Given the description of an element on the screen output the (x, y) to click on. 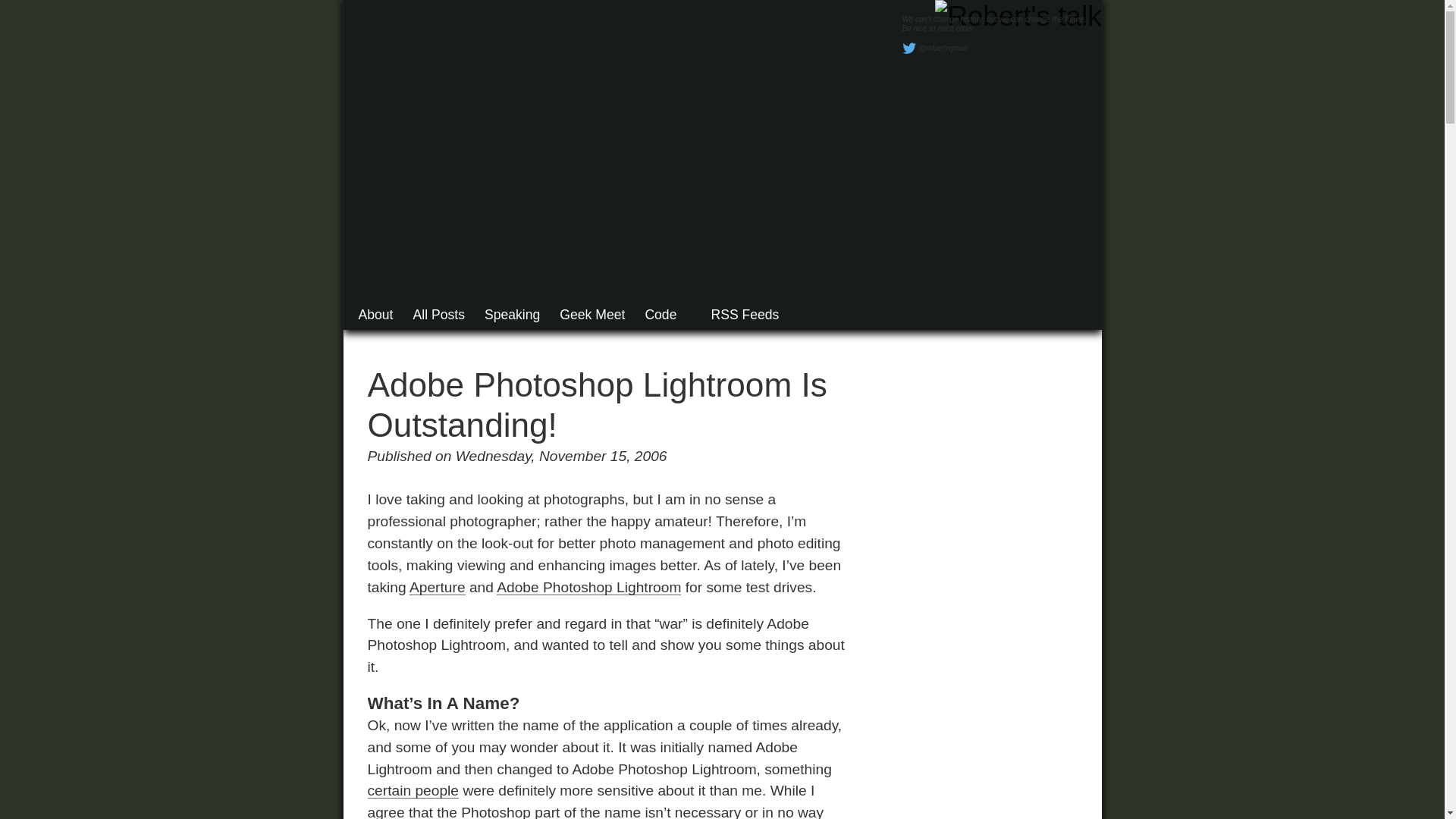
Code (660, 314)
Aperture (437, 587)
All Posts (437, 314)
Geek Meet (591, 314)
certain people (412, 790)
About (375, 314)
Adobe Photoshop Lightroom (588, 587)
RSS Feeds (737, 314)
Speaking (512, 314)
